Given the description of an element on the screen output the (x, y) to click on. 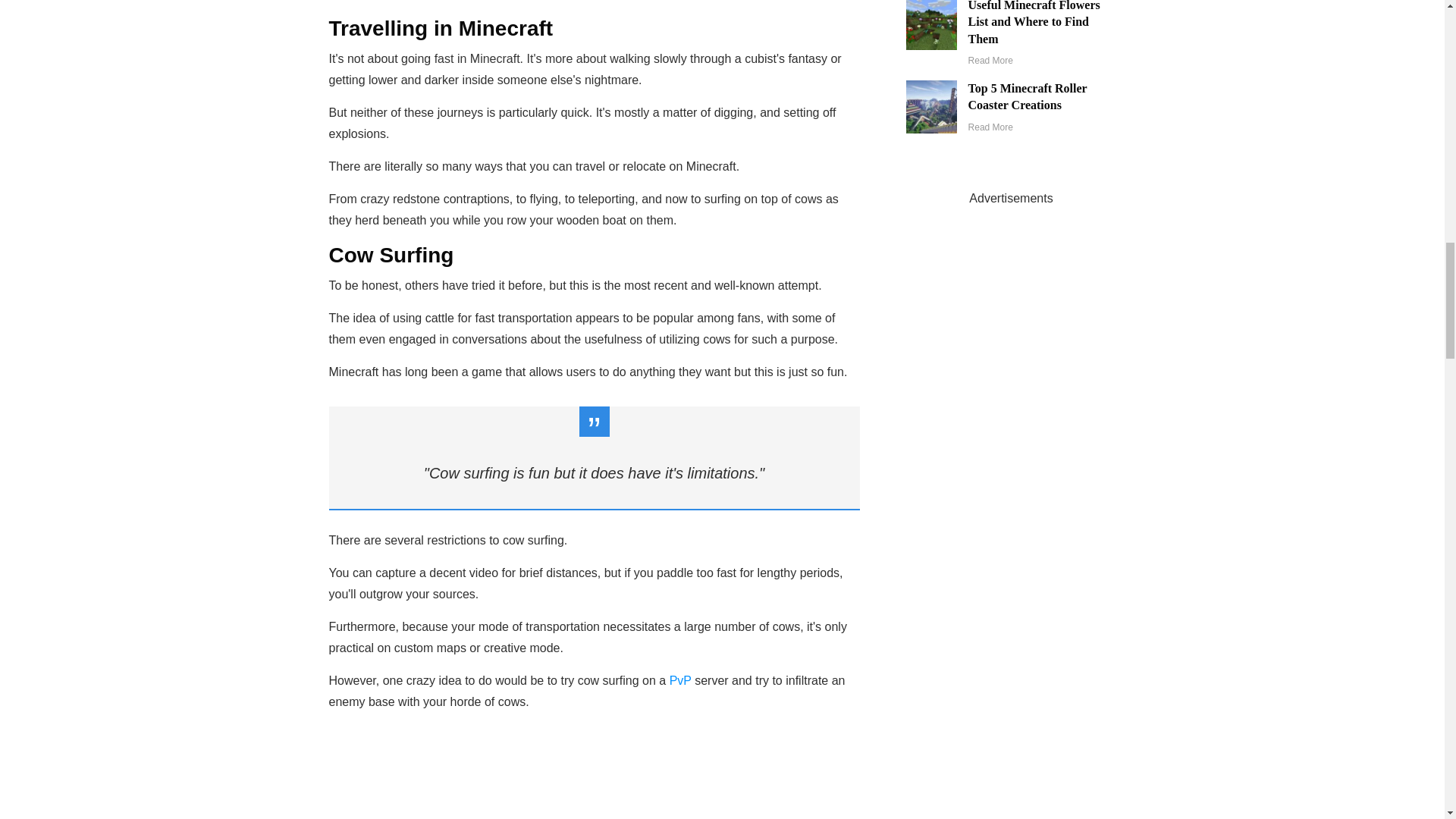
Useful Minecraft Flowers List and Where to Find Them (1034, 22)
Top 5 Minecraft Roller Coaster Creations (1027, 96)
cow surfing minecraft - 2 (593, 777)
